Given the description of an element on the screen output the (x, y) to click on. 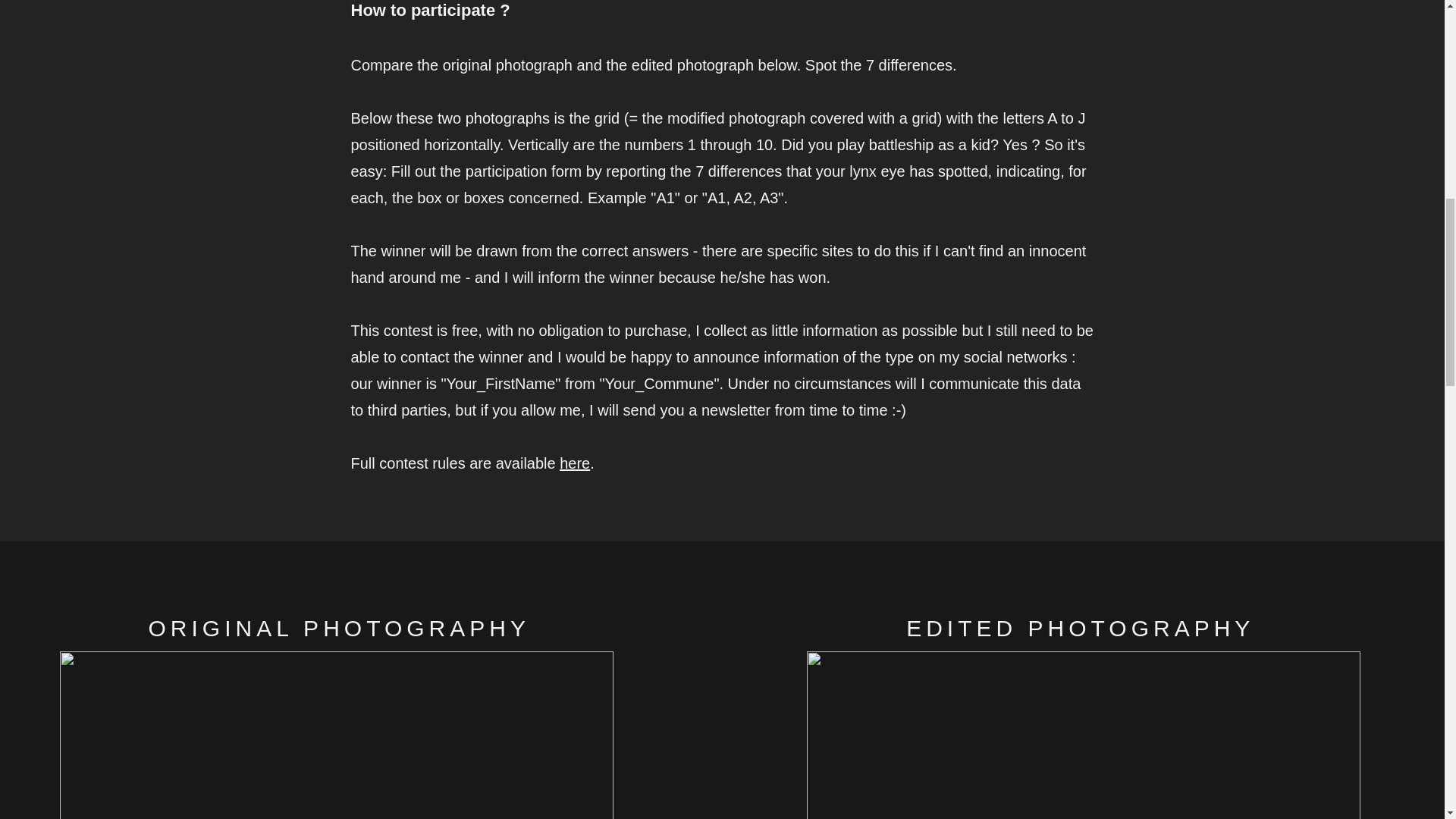
here (574, 463)
